Given the description of an element on the screen output the (x, y) to click on. 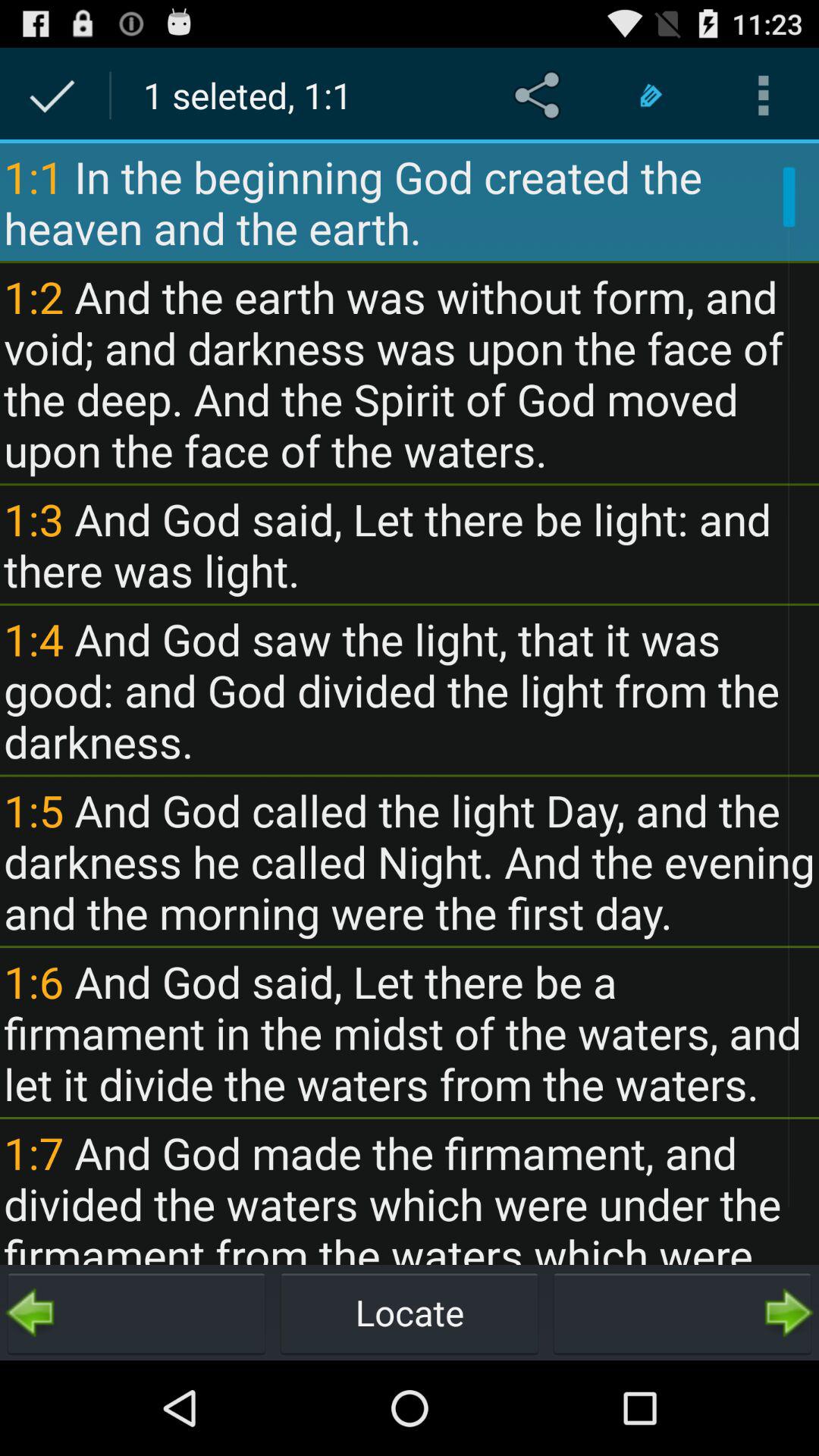
press item next to the 1 seleted 1 item (540, 95)
